Given the description of an element on the screen output the (x, y) to click on. 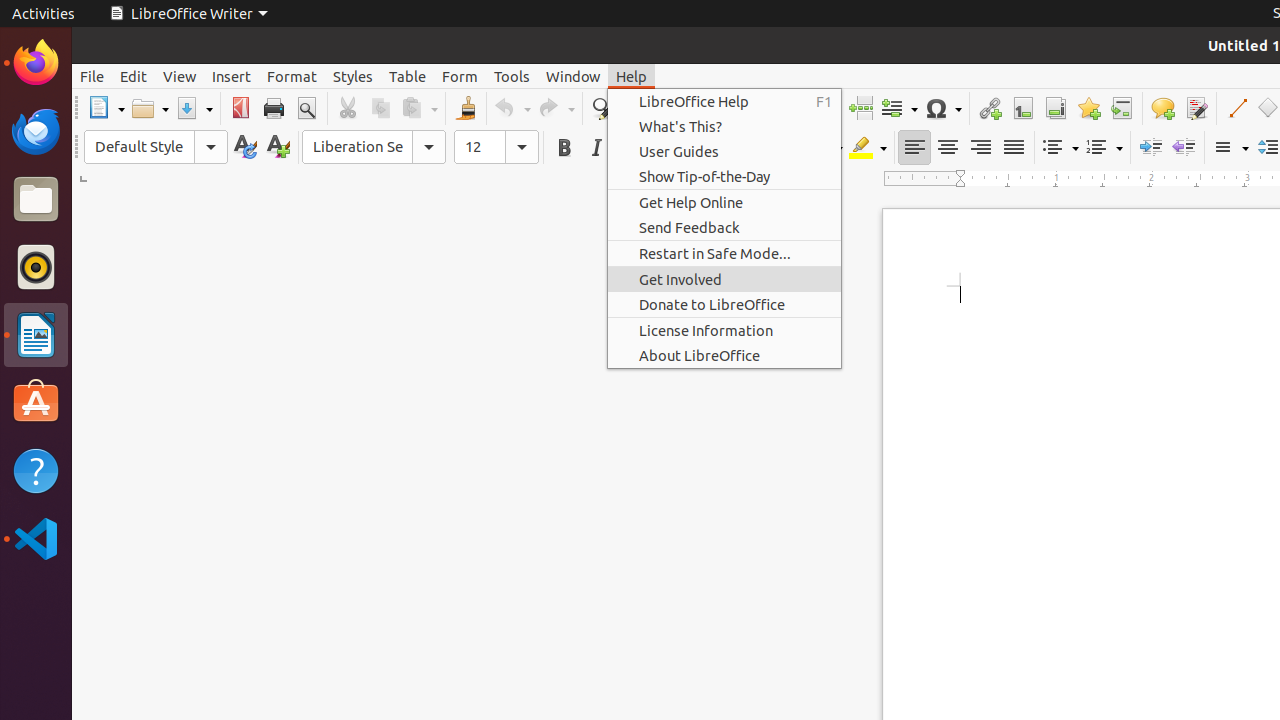
LibreOffice Writer Element type: menu (188, 13)
Get Involved Element type: menu-item (724, 279)
Open Element type: push-button (150, 108)
Footnote Element type: push-button (1022, 108)
Justified Element type: toggle-button (1013, 147)
